Given the description of an element on the screen output the (x, y) to click on. 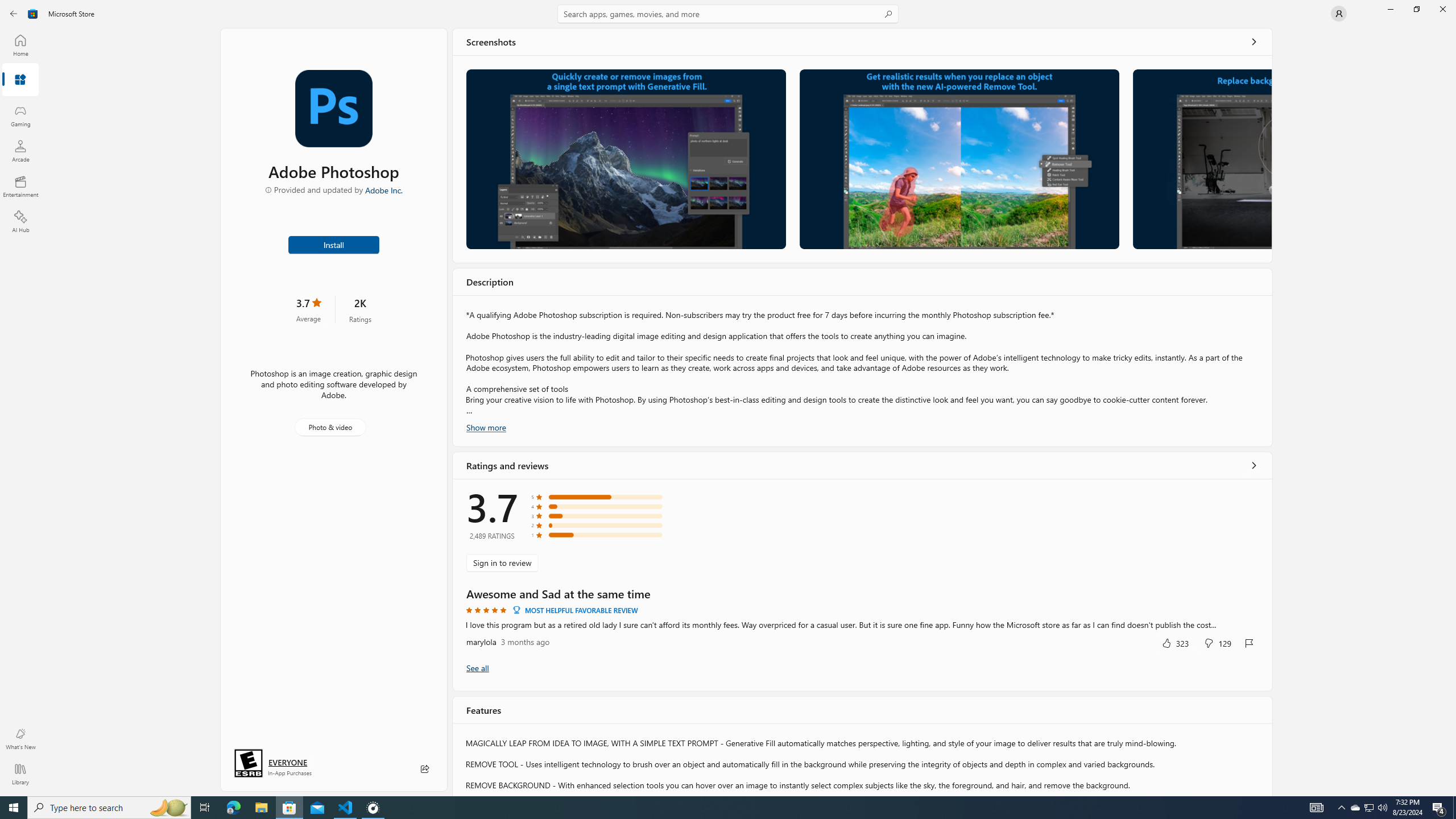
Install (334, 244)
Yes, this was helpful. 323 votes. (1174, 642)
What's New (20, 738)
Adobe Inc. (384, 189)
